Given the description of an element on the screen output the (x, y) to click on. 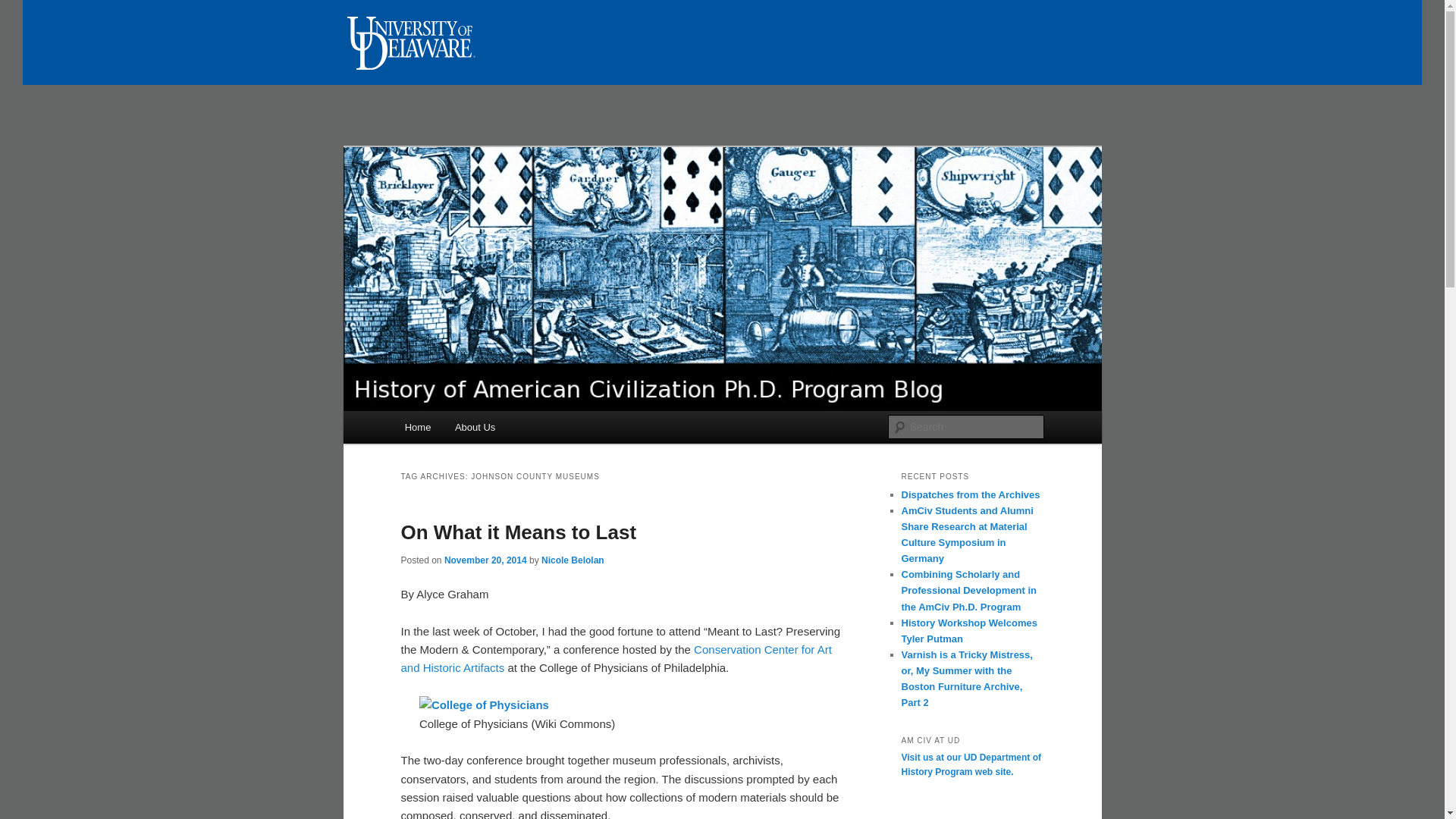
Search (24, 8)
Nicole Belolan (572, 560)
Visit us at our UD Department of History Program web site. (971, 765)
Dispatches from the Archives (970, 494)
Home (417, 427)
Conservation Center for Art and Historic Artifacts (615, 658)
About Us (474, 427)
History Workshop Welcomes Tyler Putman (968, 630)
